Given the description of an element on the screen output the (x, y) to click on. 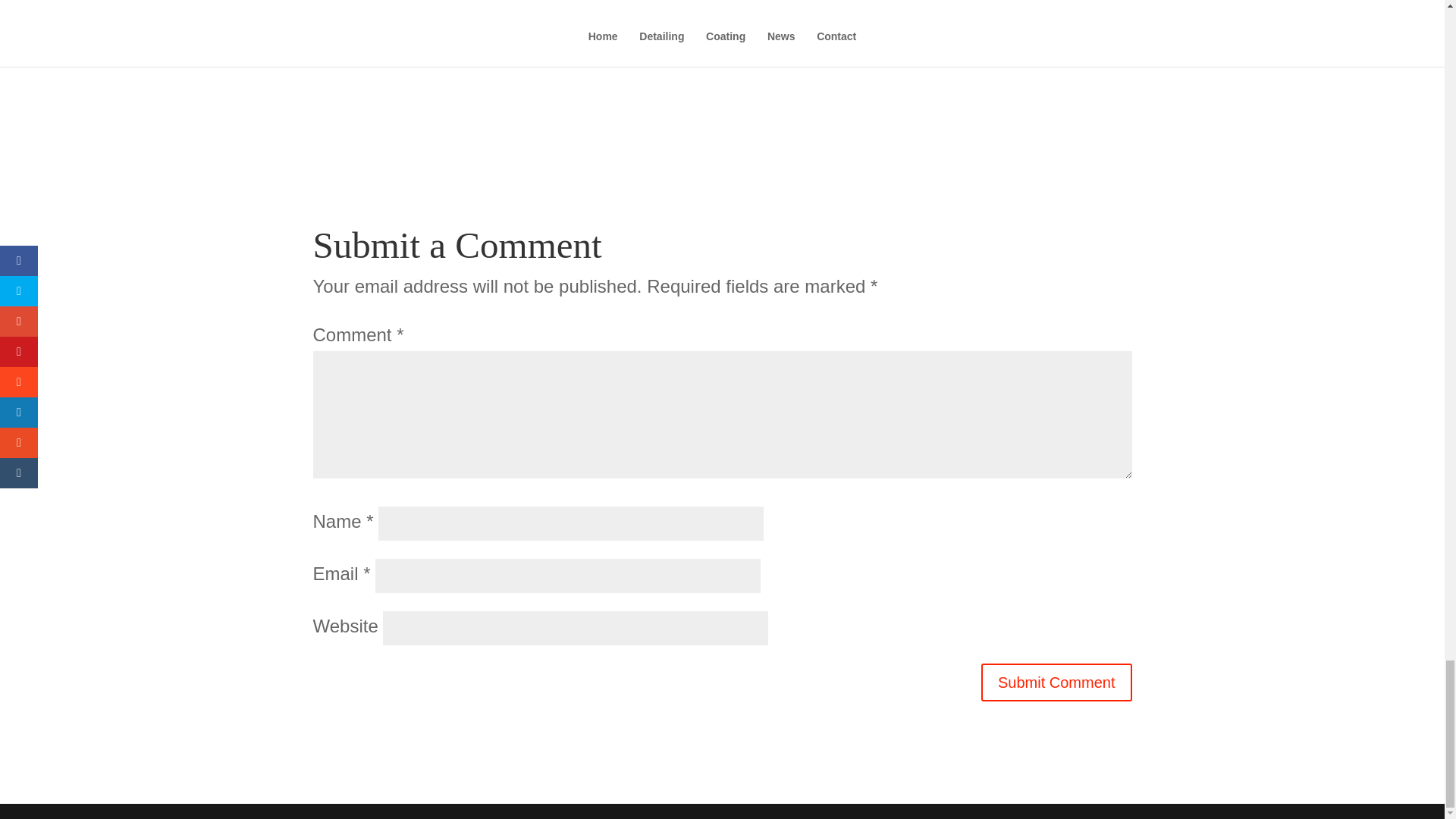
Submit Comment (1056, 682)
Submit Comment (1056, 682)
